Given the description of an element on the screen output the (x, y) to click on. 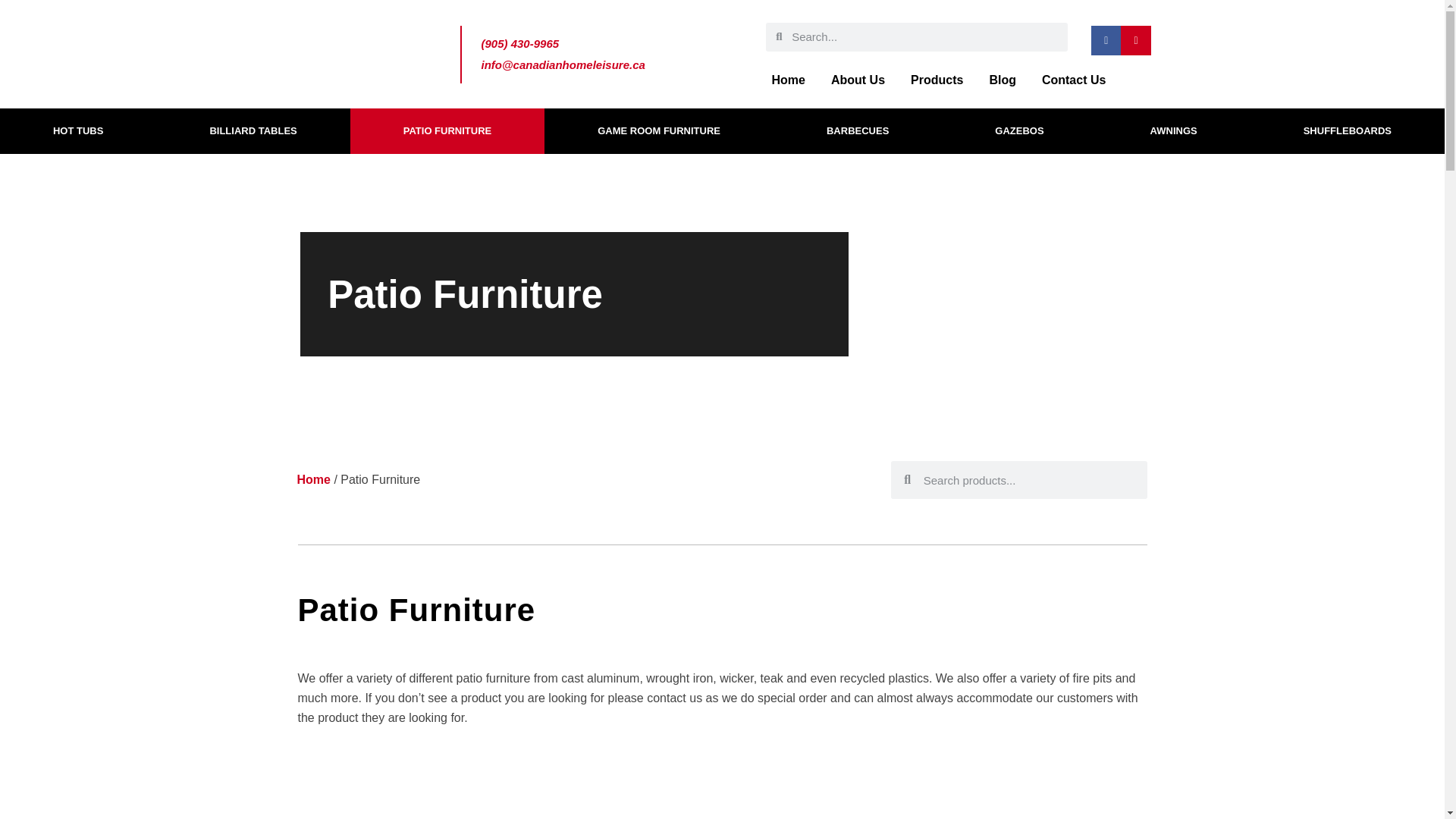
BARBECUES (857, 130)
Blog (1002, 80)
Home (313, 479)
HOT TUBS (77, 130)
About Us (858, 80)
AWNINGS (1173, 130)
BILLIARD TABLES (252, 130)
PATIO FURNITURE (447, 130)
Home (787, 80)
GAME ROOM FURNITURE (658, 130)
GAZEBOS (1019, 130)
Contact Us (1073, 80)
Products (936, 80)
